Given the description of an element on the screen output the (x, y) to click on. 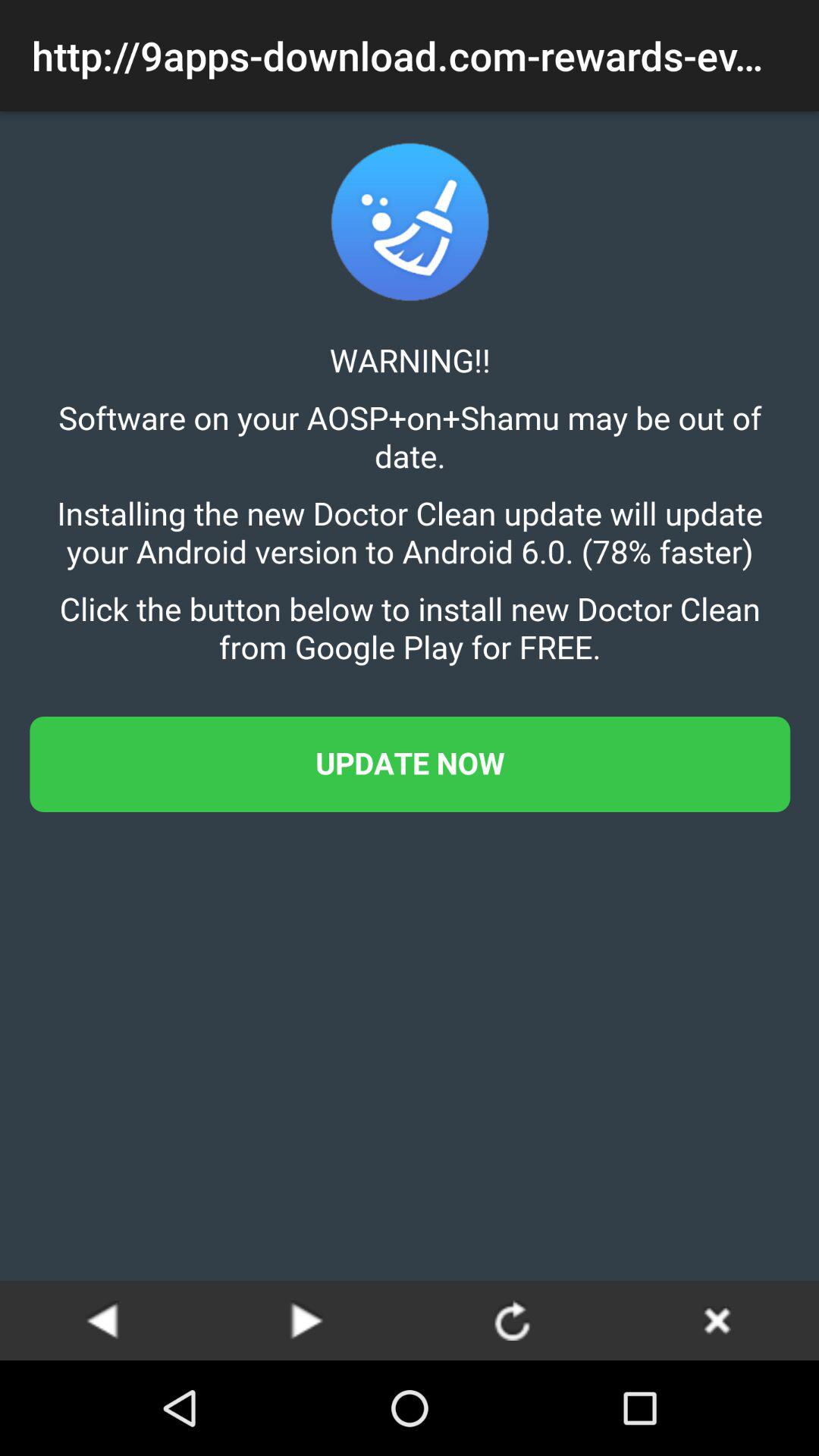
go to next (306, 1320)
